Given the description of an element on the screen output the (x, y) to click on. 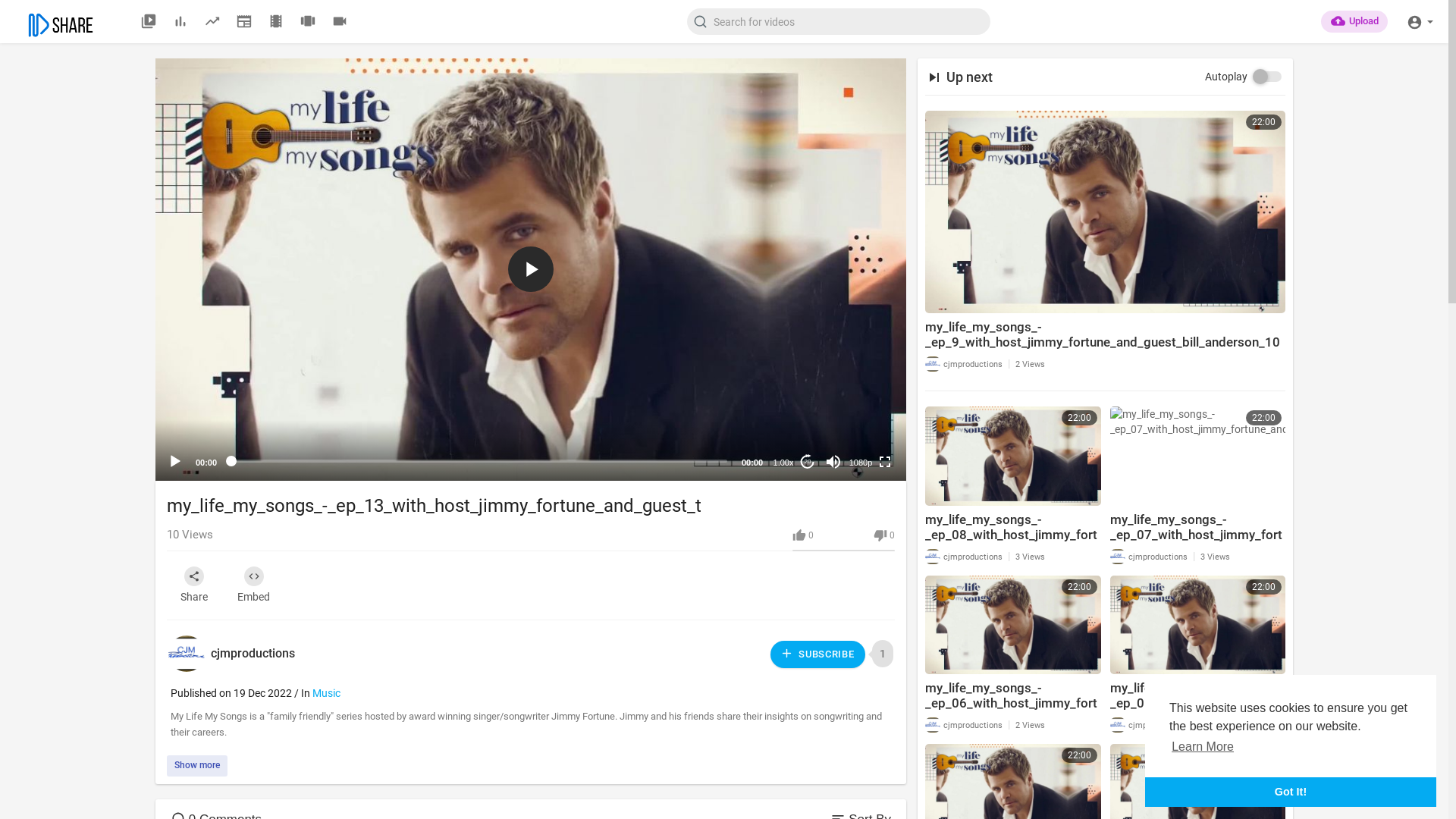
Upload Element type: text (1354, 21)
Play Element type: hover (174, 461)
Share Element type: text (193, 585)
Fullscreen Element type: hover (884, 461)
Mute Element type: hover (832, 461)
SUBSCRIBE Element type: text (817, 654)
1.00x Element type: text (783, 462)
22:00 Element type: text (1105, 211)
cjmproductions Element type: text (963, 555)
cjmproductions Element type: text (252, 653)
1080p Element type: text (860, 462)
22:00 Element type: text (1198, 624)
22:00 Element type: text (1013, 624)
cjmproductions Element type: text (1148, 724)
cjmproductions Element type: text (963, 724)
0 Element type: text (883, 534)
Embed Element type: text (253, 585)
Learn More Element type: text (1202, 746)
Got It! Element type: text (1290, 791)
22:00 Element type: text (1198, 455)
cjmproductions Element type: text (1148, 555)
22:00 Element type: text (1013, 455)
cjmproductions Element type: text (963, 363)
0 Element type: text (861, 493)
0 Element type: text (802, 534)
20 Element type: text (807, 461)
Music Element type: text (326, 693)
